Given the description of an element on the screen output the (x, y) to click on. 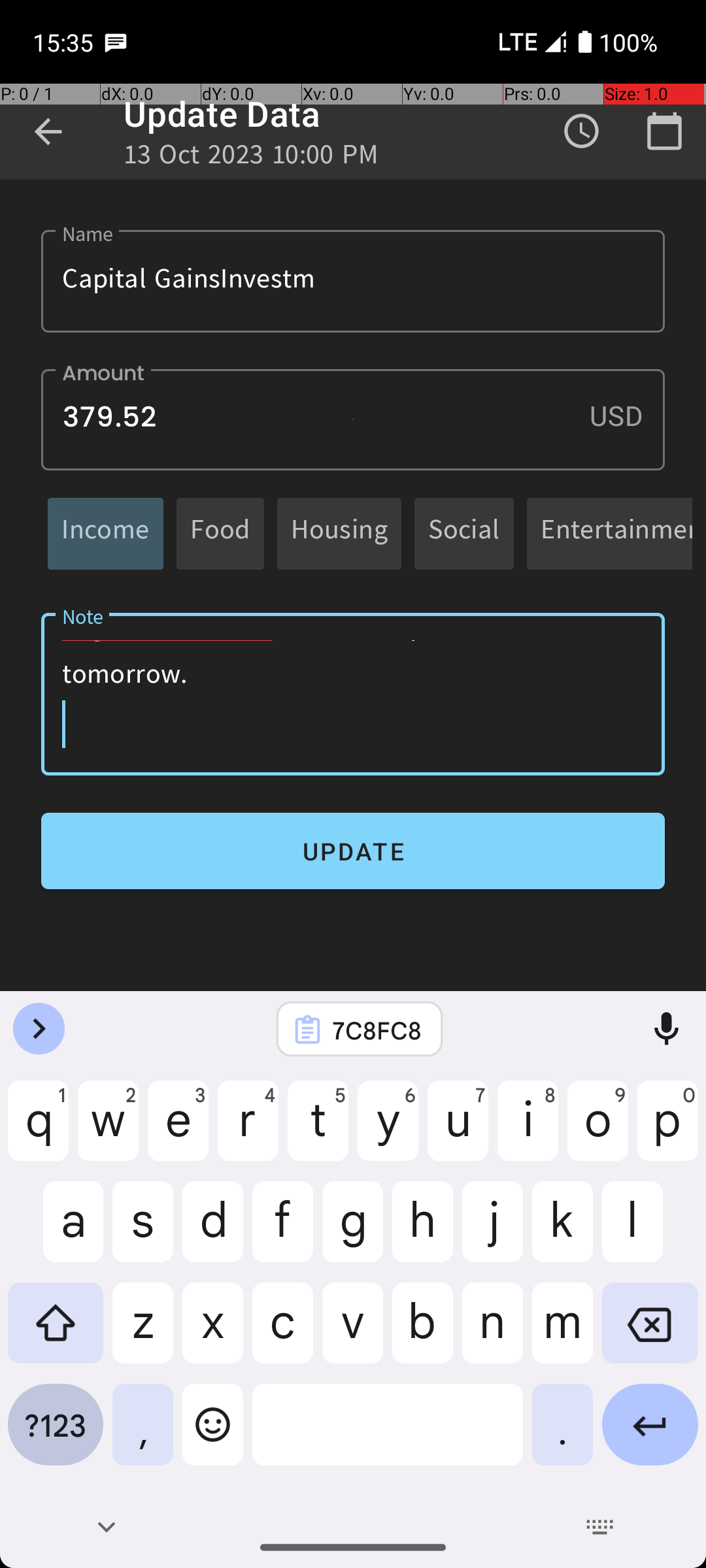
13 Oct 2023 10:00 PM Element type: android.widget.TextView (250, 157)
Capital GainsInvestm Element type: android.widget.EditText (352, 280)
379.52 Element type: android.widget.EditText (352, 419)
UrgentRemember to follow up with the client tomorrow.
 Element type: android.widget.EditText (352, 693)
7C8FC8 Element type: android.widget.TextView (376, 1029)
